Given the description of an element on the screen output the (x, y) to click on. 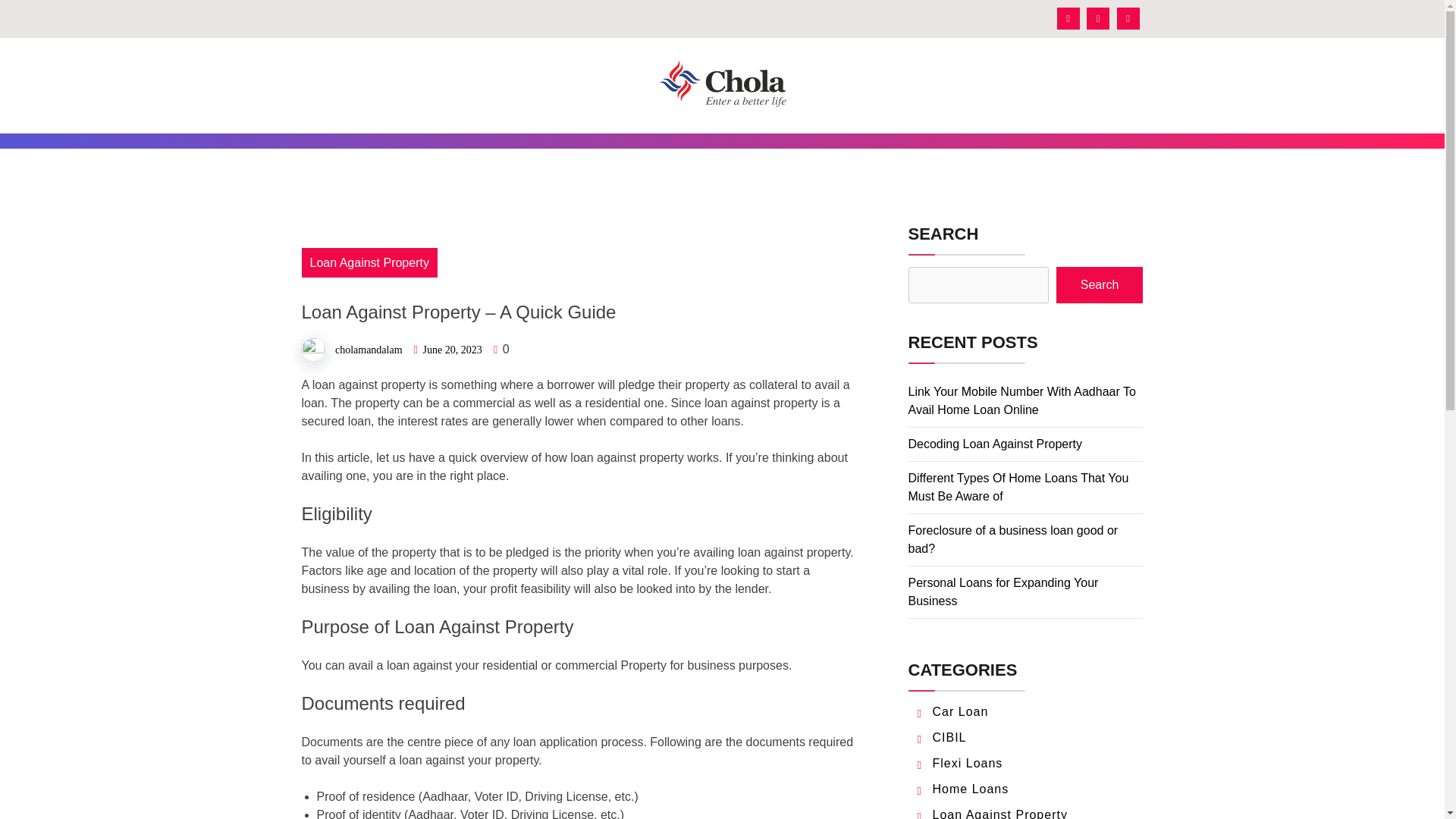
Personal Loans for Expanding Your Business (1003, 591)
CIBIL (949, 737)
Search (1099, 284)
Loan Against Property (1000, 813)
Home Loans (971, 788)
Flexi Loans (968, 762)
Decoding Loan Against Property (994, 443)
Different Types Of Home Loans That You Must Be Aware of (1018, 486)
June 20, 2023 (452, 349)
Foreclosure of a business loan good or bad? (1013, 539)
cholamandalam (368, 349)
Loan Against Property (369, 262)
Car Loan (960, 711)
